Given the description of an element on the screen output the (x, y) to click on. 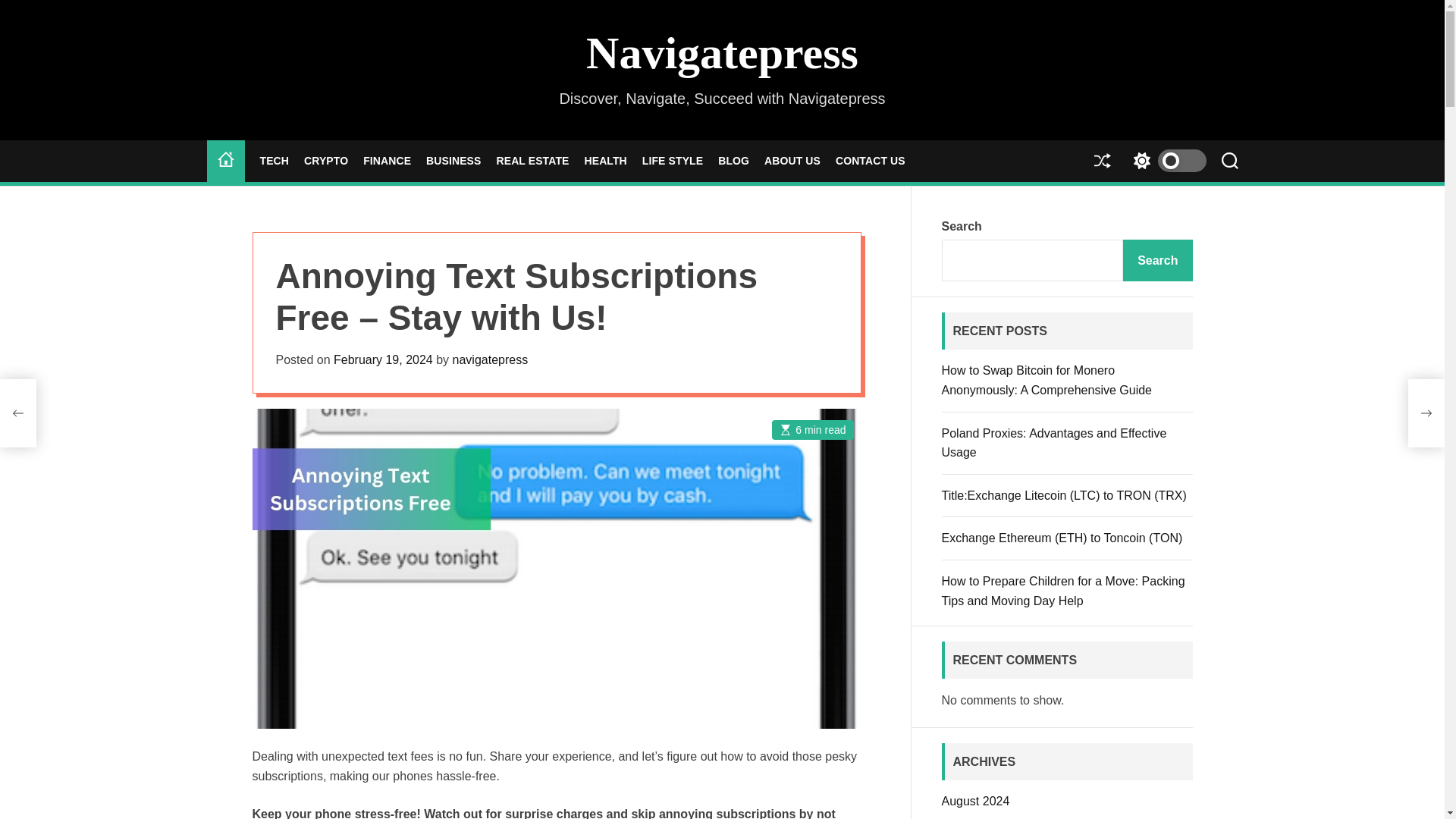
Navigatepress (722, 53)
TECH (273, 161)
CONTACT US (870, 161)
navigatepress (490, 359)
Switch color mode (1165, 160)
February 19, 2024 (382, 359)
BUSINESS (453, 161)
LIFE STYLE (672, 161)
ABOUT US (792, 161)
BLOG (733, 161)
